Given the description of an element on the screen output the (x, y) to click on. 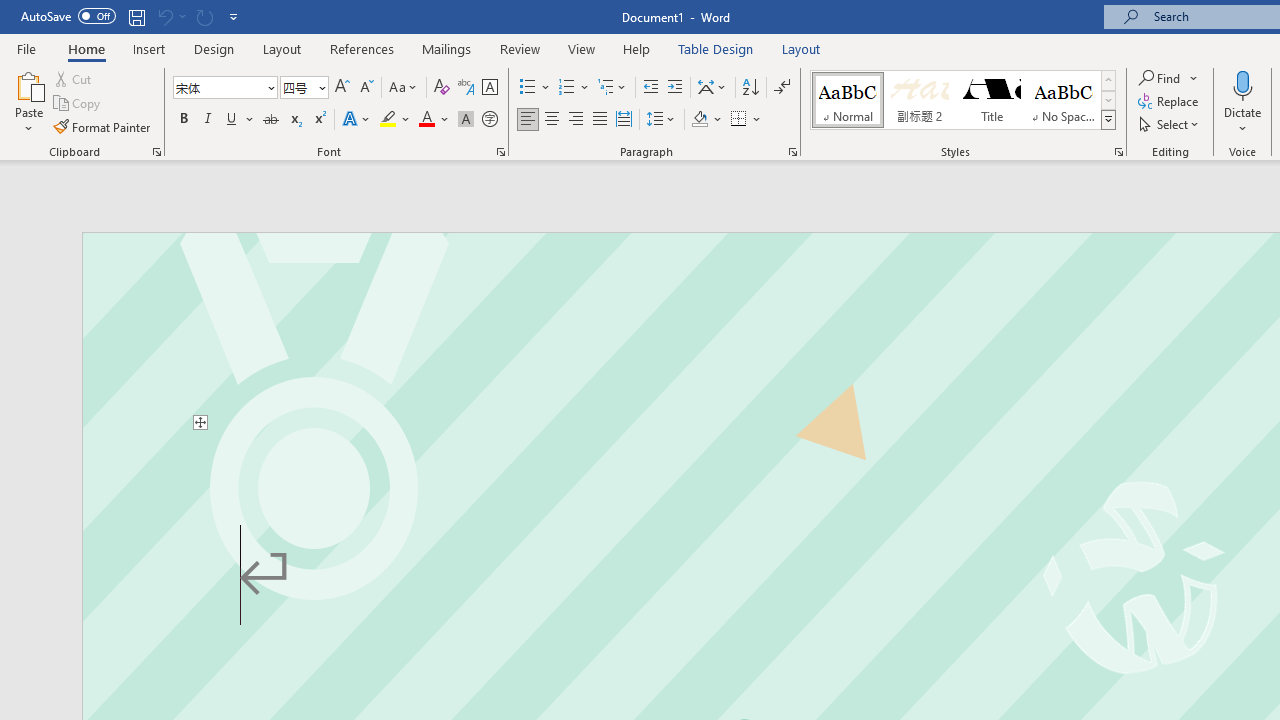
AutomationID: QuickStylesGallery (963, 99)
